Given the description of an element on the screen output the (x, y) to click on. 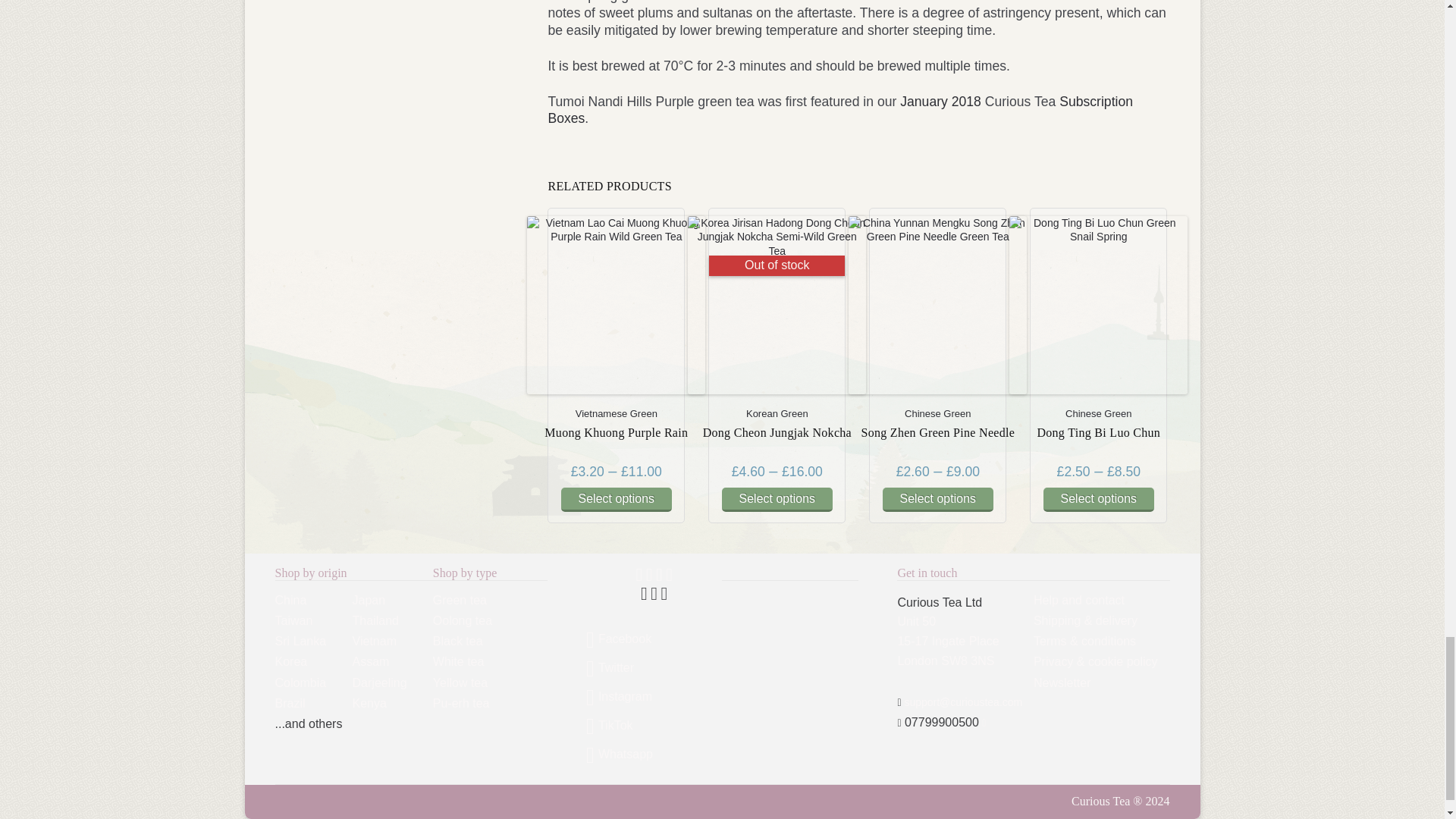
stripe (638, 576)
Google pay (668, 576)
Apple pay (659, 576)
paypal (649, 576)
Mastercard (643, 594)
